Given the description of an element on the screen output the (x, y) to click on. 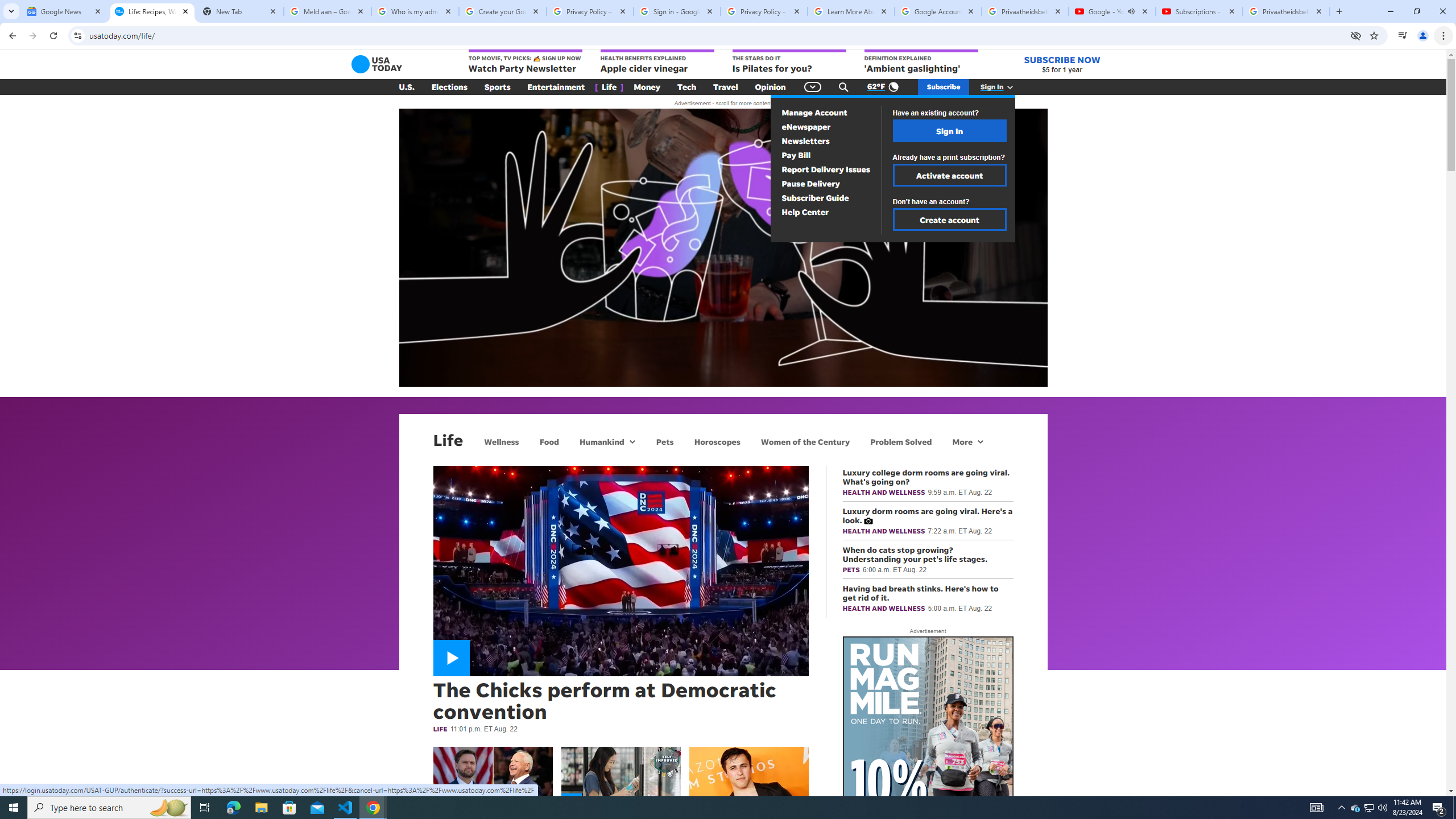
Travel (725, 87)
HEALTH BENEFITS EXPLAINED Apple cider vinegar (656, 62)
Subscriptions - YouTube (1198, 11)
Sign In (949, 130)
U.S. (406, 87)
DEFINITION EXPLAINED 'Ambient gaslighting' (920, 62)
Women of the Century (805, 441)
